Given the description of an element on the screen output the (x, y) to click on. 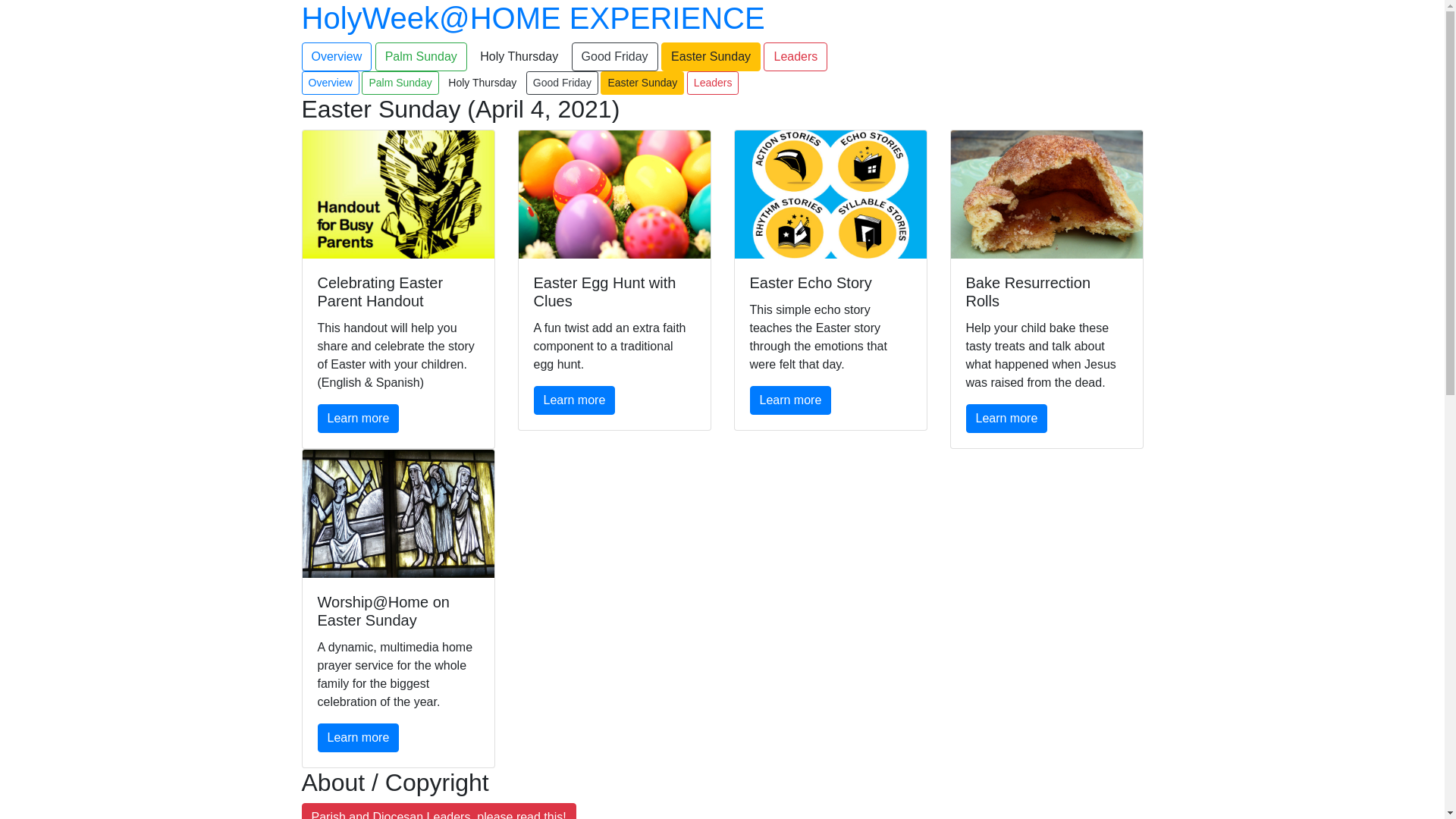
Good Friday Element type: text (614, 56)
Easter Sunday Element type: text (642, 82)
Easter Sunday Element type: text (710, 56)
HolyWeek@HOME EXPERIENCE Element type: text (533, 17)
Palm Sunday Element type: text (421, 56)
Holy Thursday Element type: text (518, 56)
Overview Element type: text (330, 82)
Learn more Element type: text (357, 418)
Holy Thursday Element type: text (482, 82)
Overview Element type: text (336, 56)
Learn more Element type: text (1007, 418)
Learn more Element type: text (574, 399)
Learn more Element type: text (790, 399)
Palm Sunday Element type: text (399, 82)
Good Friday Element type: text (562, 82)
Leaders Element type: text (713, 82)
Leaders Element type: text (795, 56)
Learn more Element type: text (357, 737)
